Given the description of an element on the screen output the (x, y) to click on. 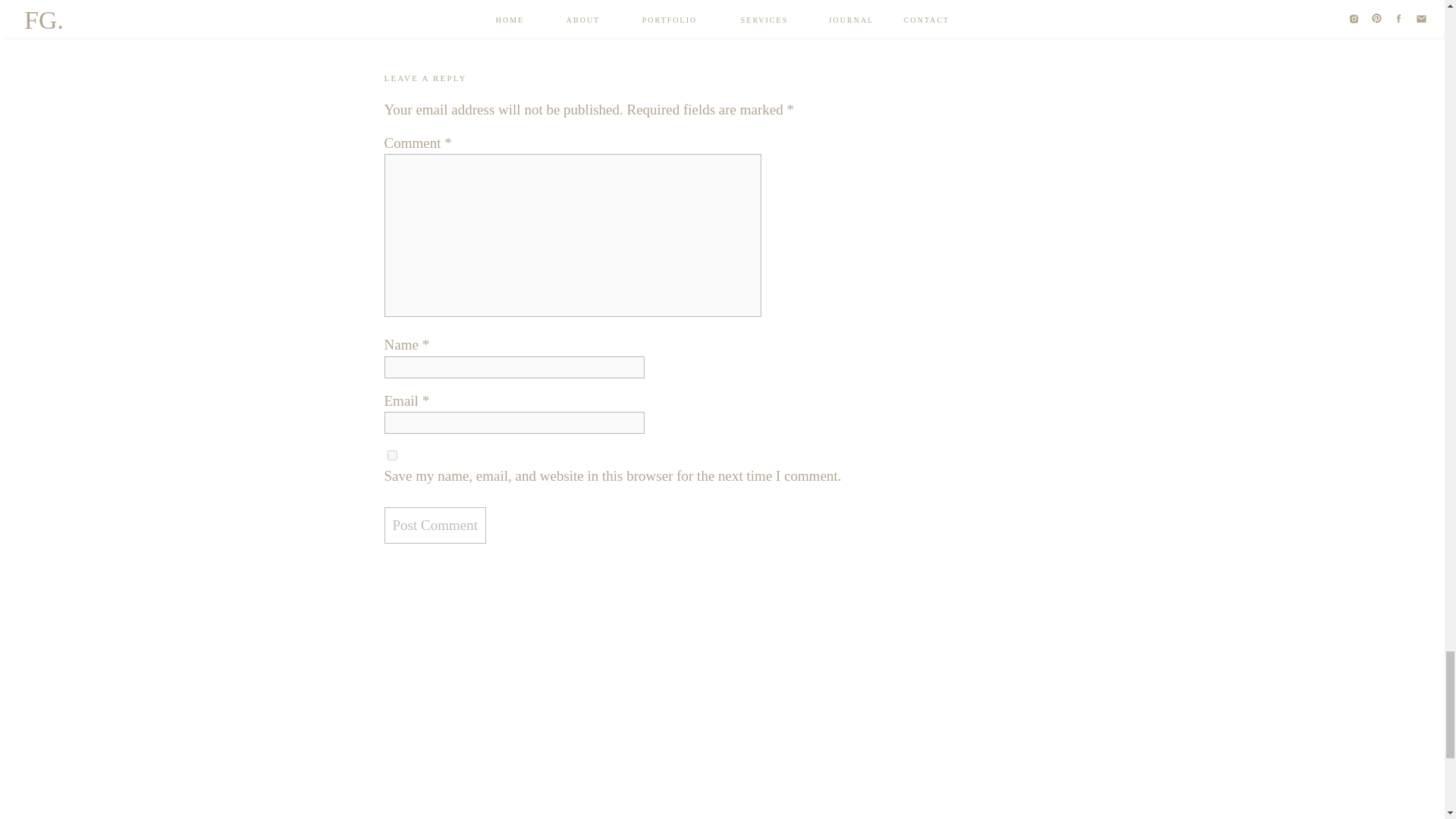
BE THE FIRST TO COMMENT (458, 6)
yes (391, 455)
Post Comment (434, 525)
Post Comment (434, 525)
